Given the description of an element on the screen output the (x, y) to click on. 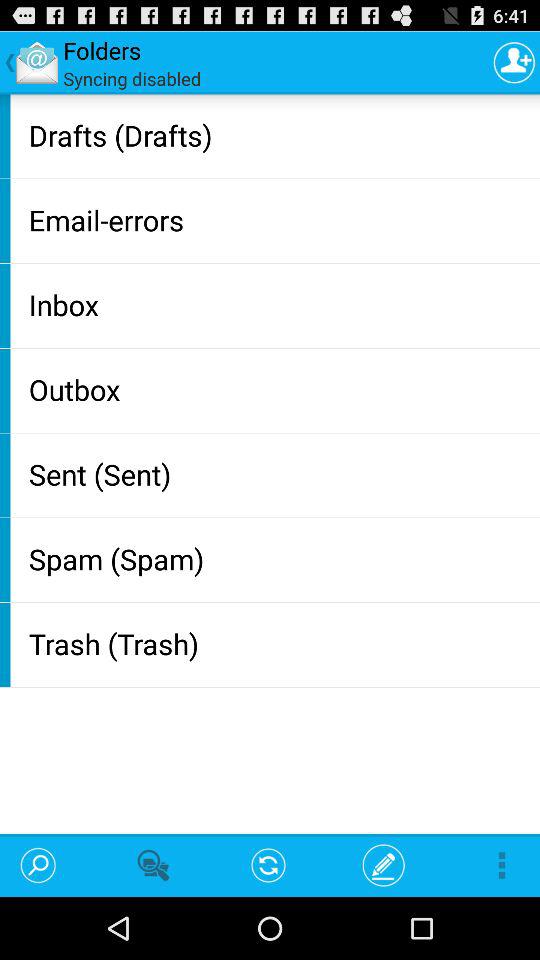
turn on the outbox app (280, 389)
